Given the description of an element on the screen output the (x, y) to click on. 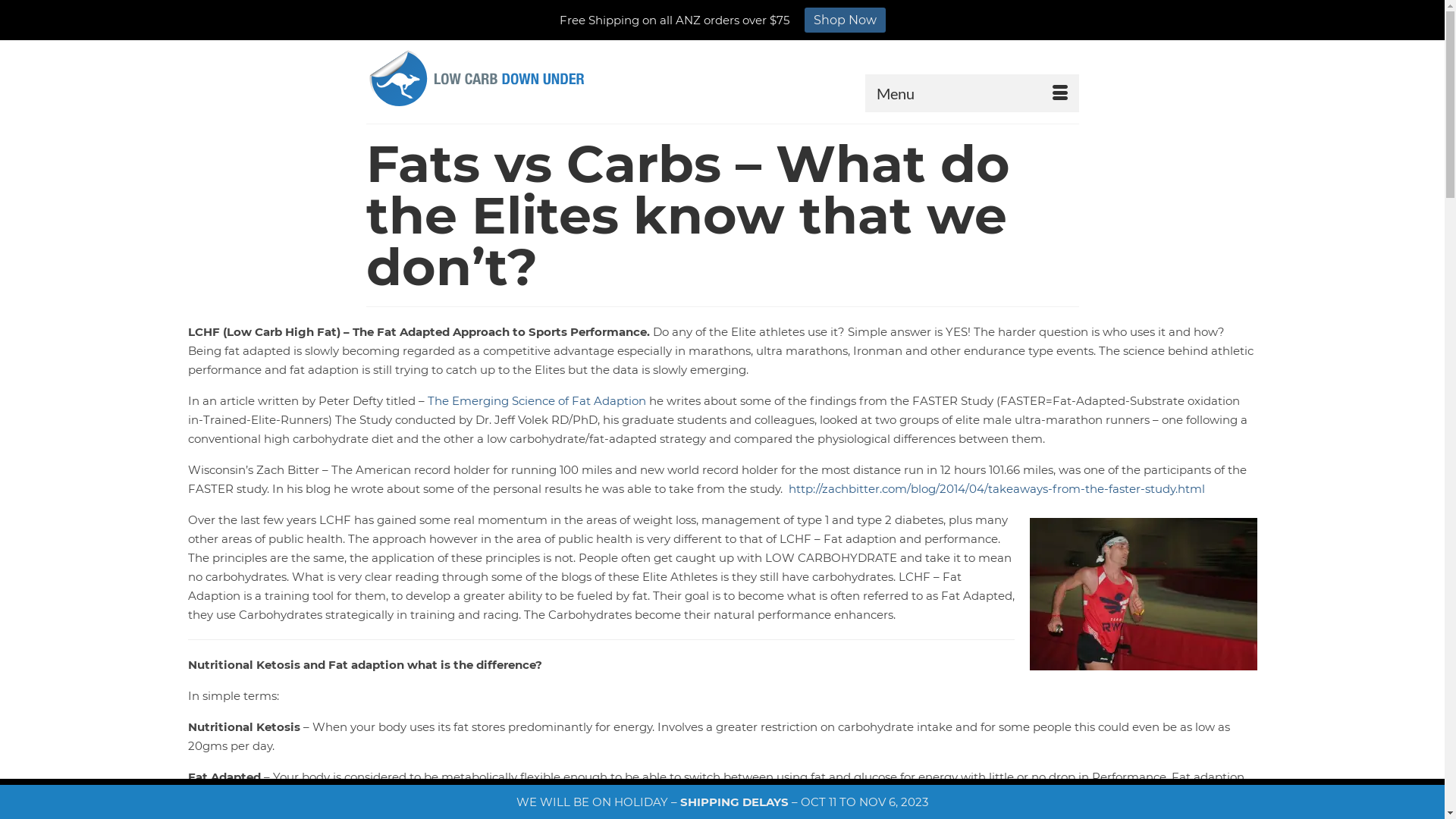
The Emerging Science of Fat Adaption Element type: text (536, 400)
Low Carb Down Under Element type: hover (476, 79)
Shop Now Element type: text (843, 19)
Menu Element type: text (971, 93)
Learn more Element type: text (860, 798)
